Given the description of an element on the screen output the (x, y) to click on. 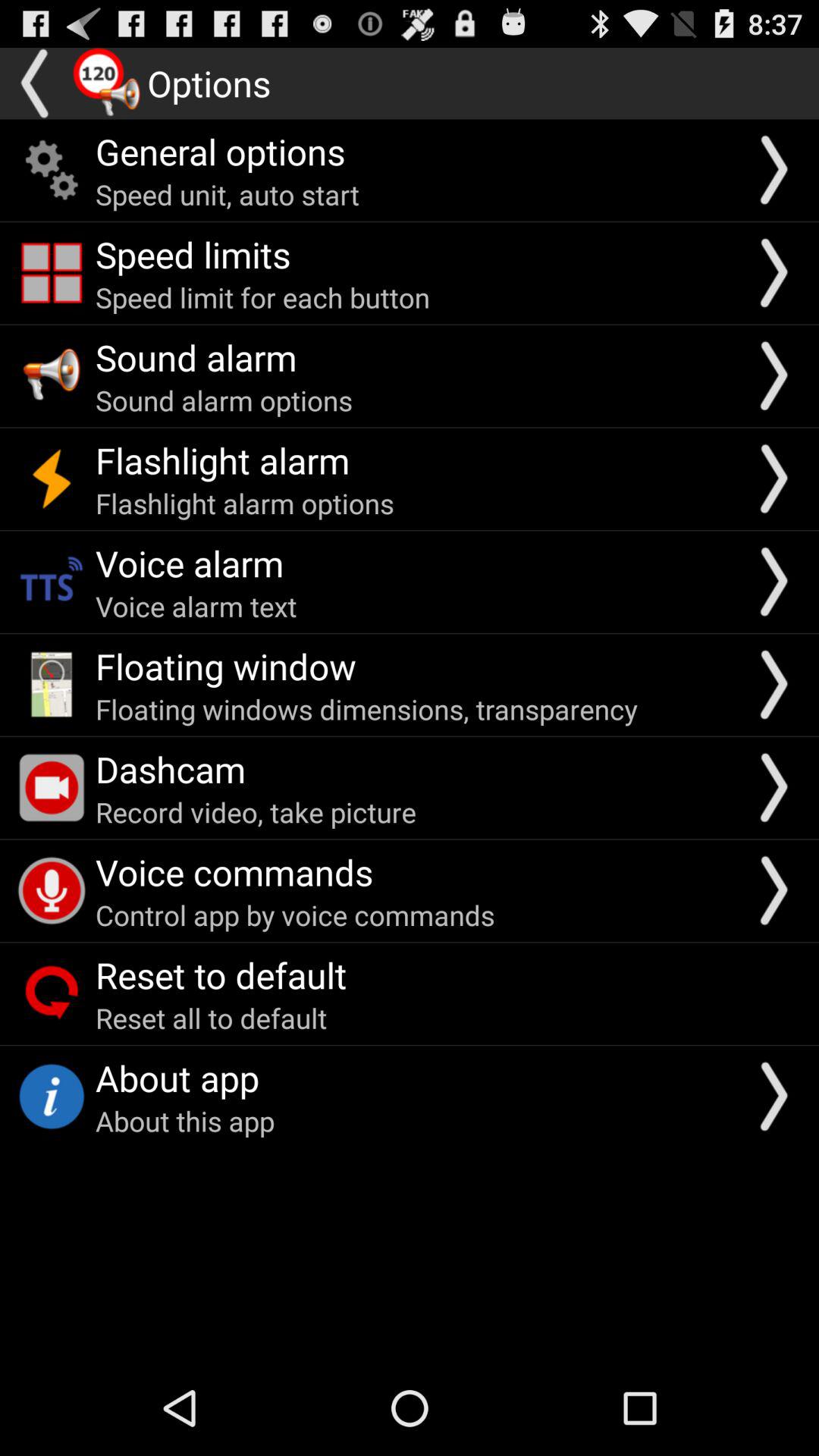
turn off dashcam icon (170, 769)
